Given the description of an element on the screen output the (x, y) to click on. 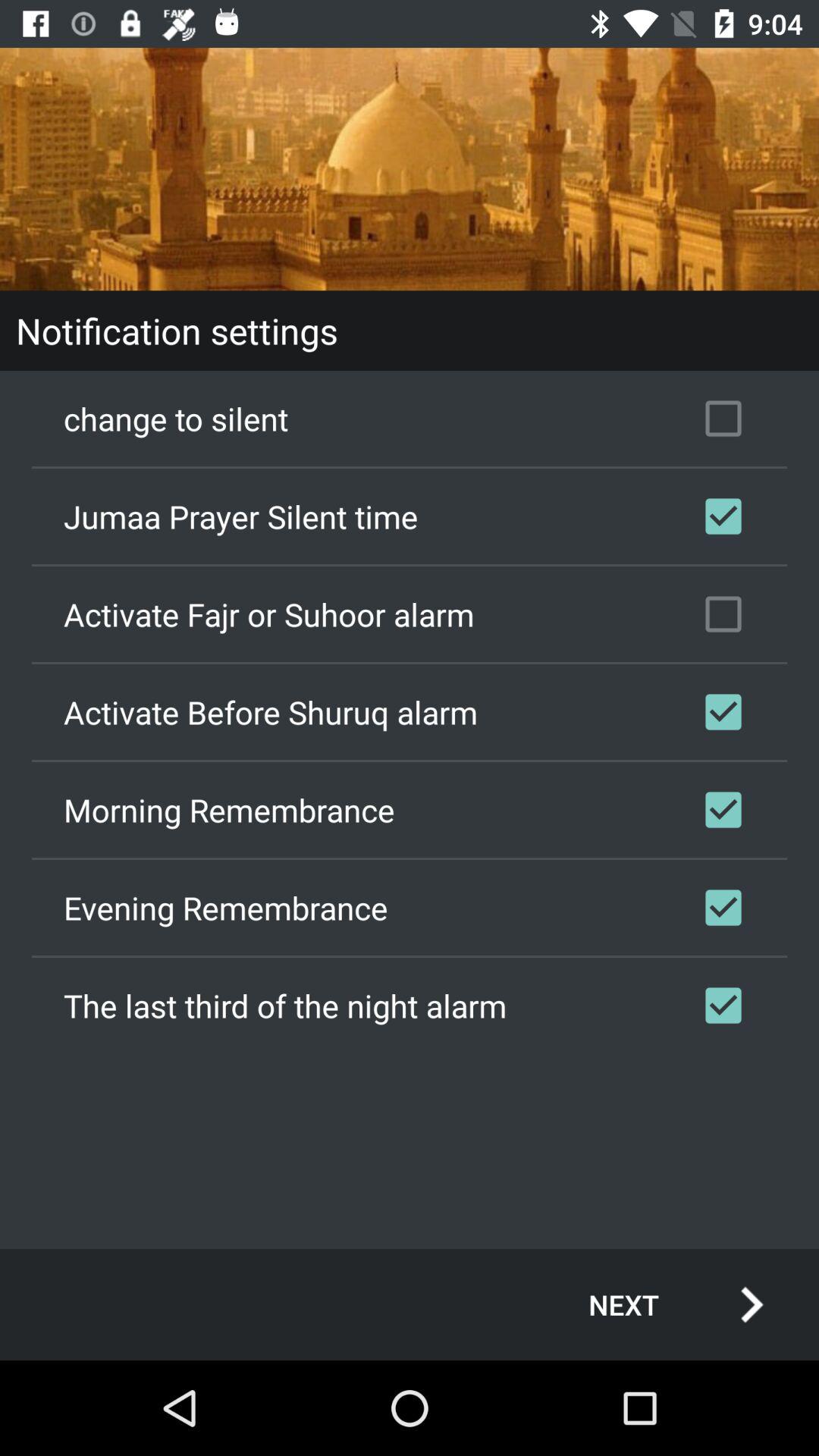
flip until activate fajr or item (409, 614)
